Given the description of an element on the screen output the (x, y) to click on. 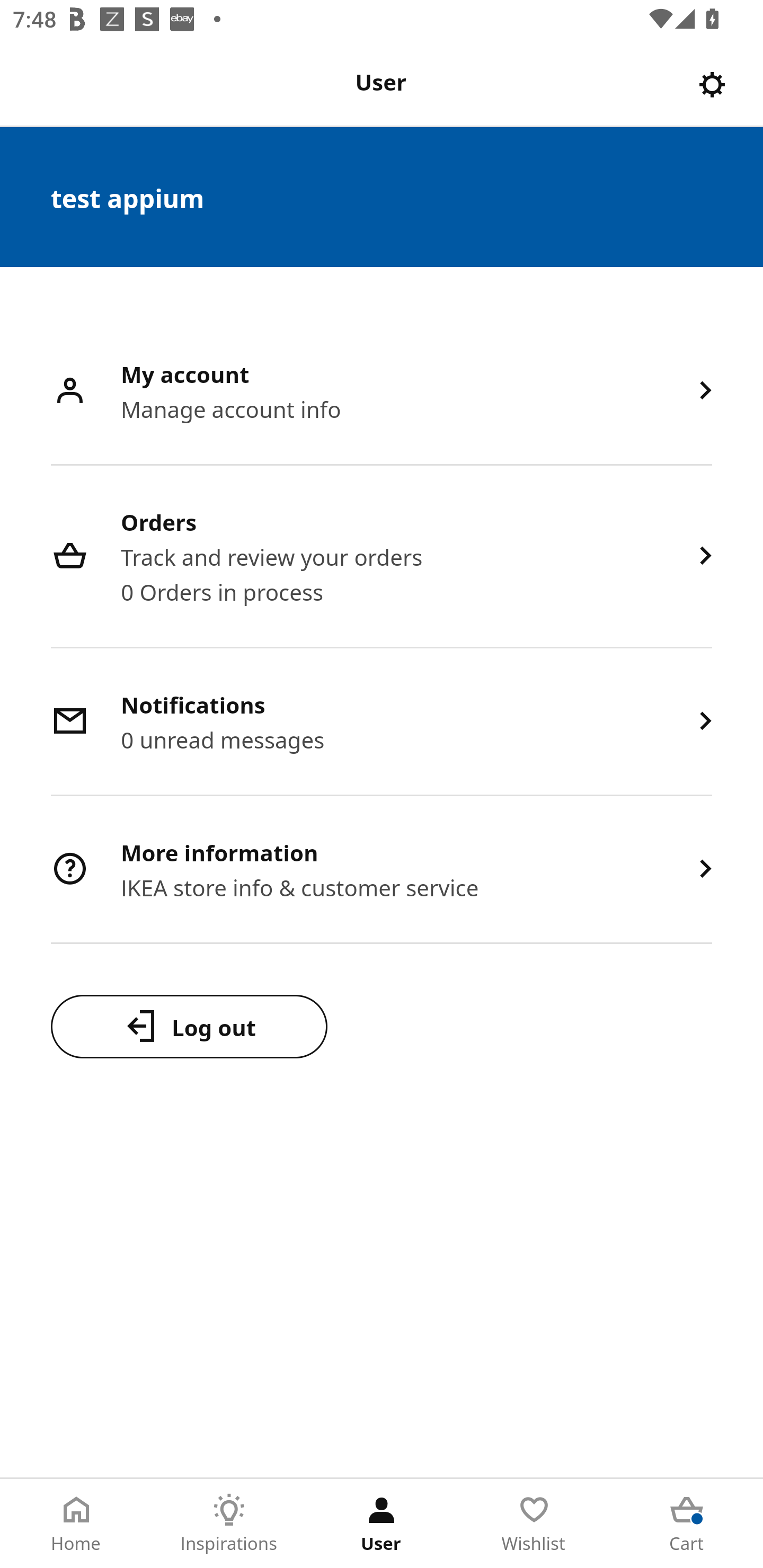
My account
Manage account info (381, 391)
Notifications
0 unread messages (381, 722)
Log out (189, 1026)
Home
Tab 1 of 5 (76, 1522)
Inspirations
Tab 2 of 5 (228, 1522)
User
Tab 3 of 5 (381, 1522)
Wishlist
Tab 4 of 5 (533, 1522)
Cart
Tab 5 of 5 (686, 1522)
